Given the description of an element on the screen output the (x, y) to click on. 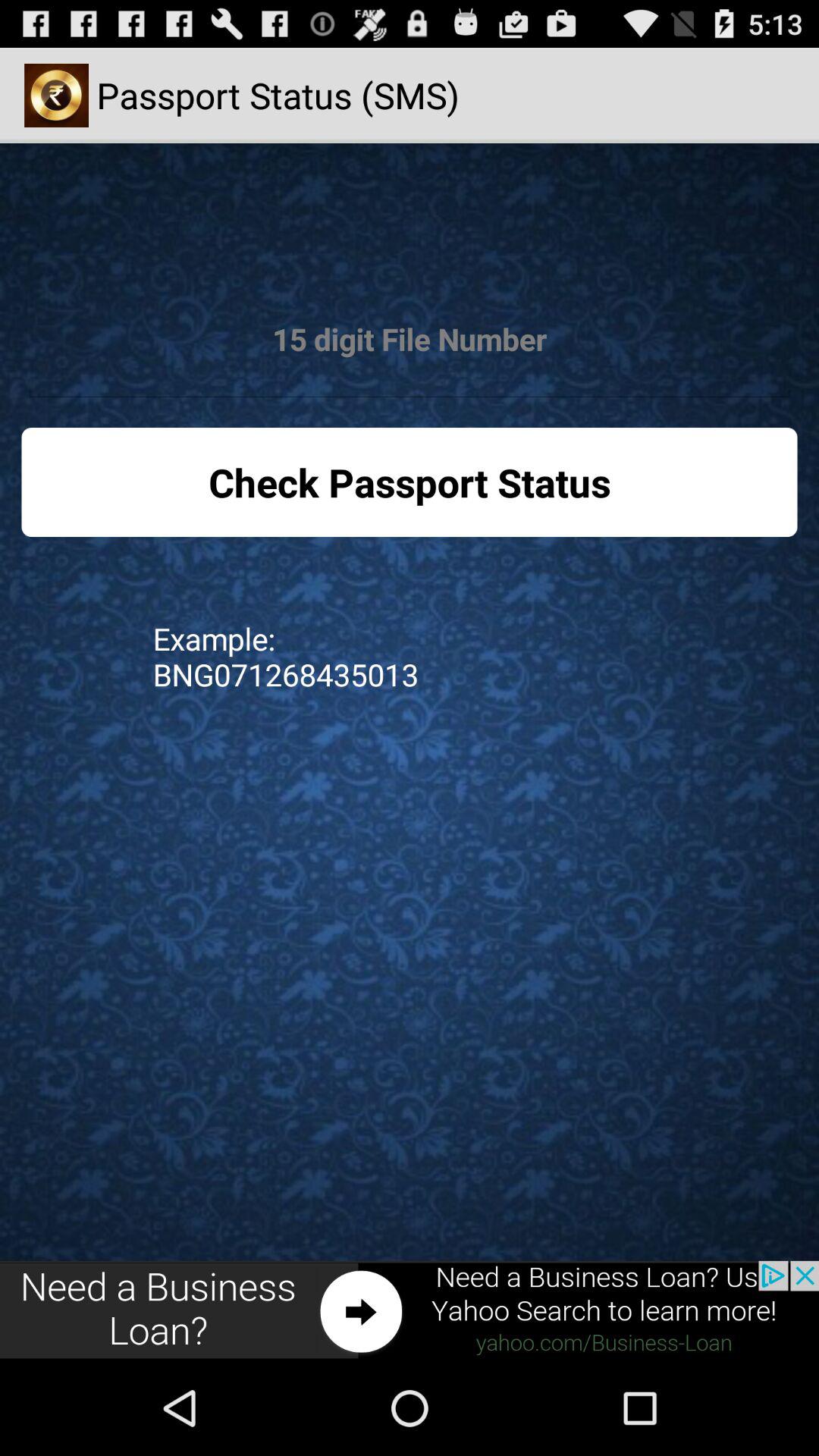
business loan add (409, 1310)
